Given the description of an element on the screen output the (x, y) to click on. 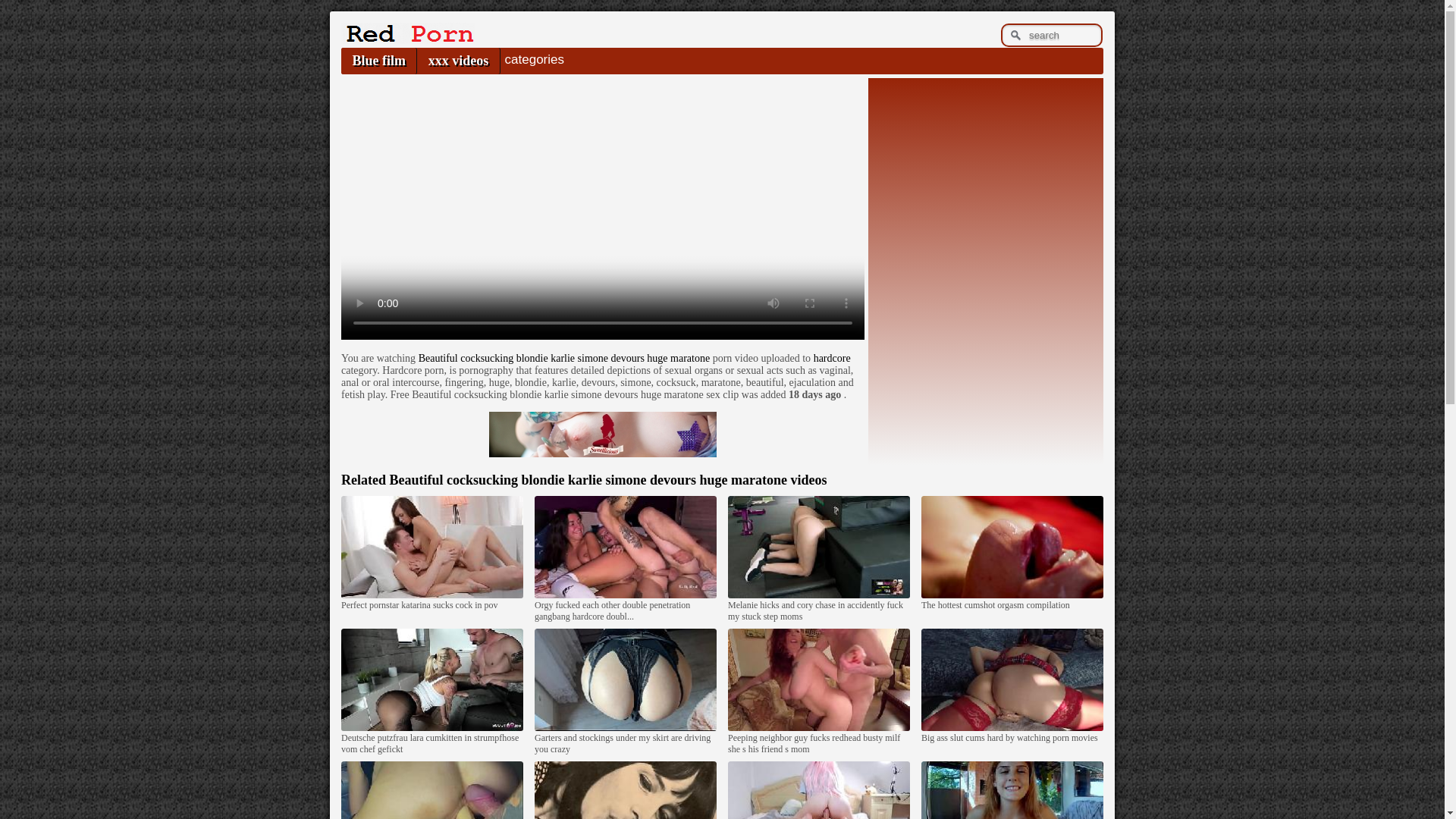
xxx videos (457, 60)
Blue film (378, 60)
Indian Porn (407, 39)
hardcore (831, 357)
Blue film (378, 60)
xxx videos (457, 60)
categories (533, 59)
